Given the description of an element on the screen output the (x, y) to click on. 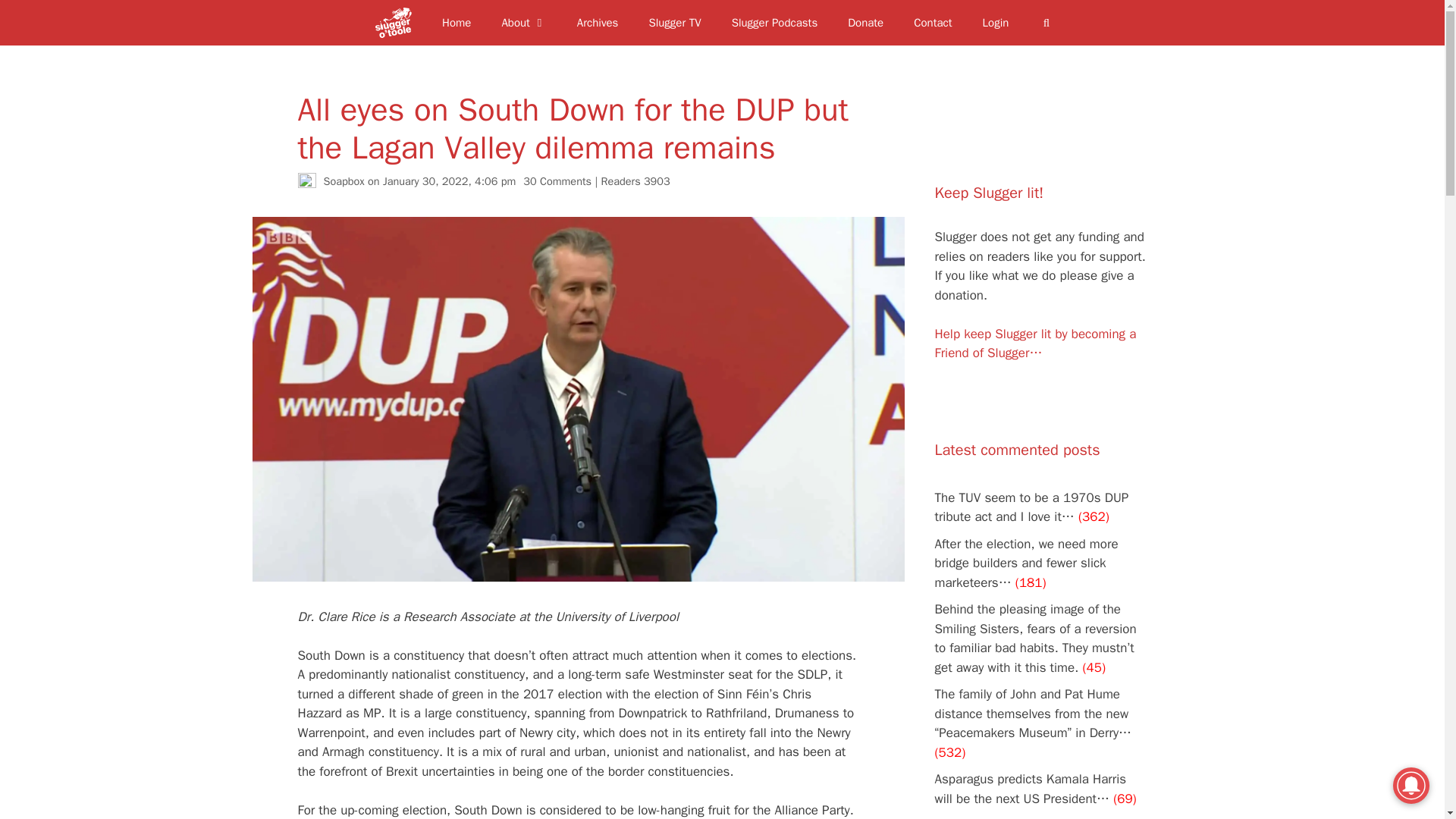
Donate (865, 22)
Archives (597, 22)
Contact (932, 22)
View all posts by Soapbox (343, 181)
Home (456, 22)
About (523, 22)
Slugger Podcasts (774, 22)
Slugger O'Toole (397, 22)
Soapbox (343, 181)
Slugger TV (674, 22)
Login (996, 22)
